Given the description of an element on the screen output the (x, y) to click on. 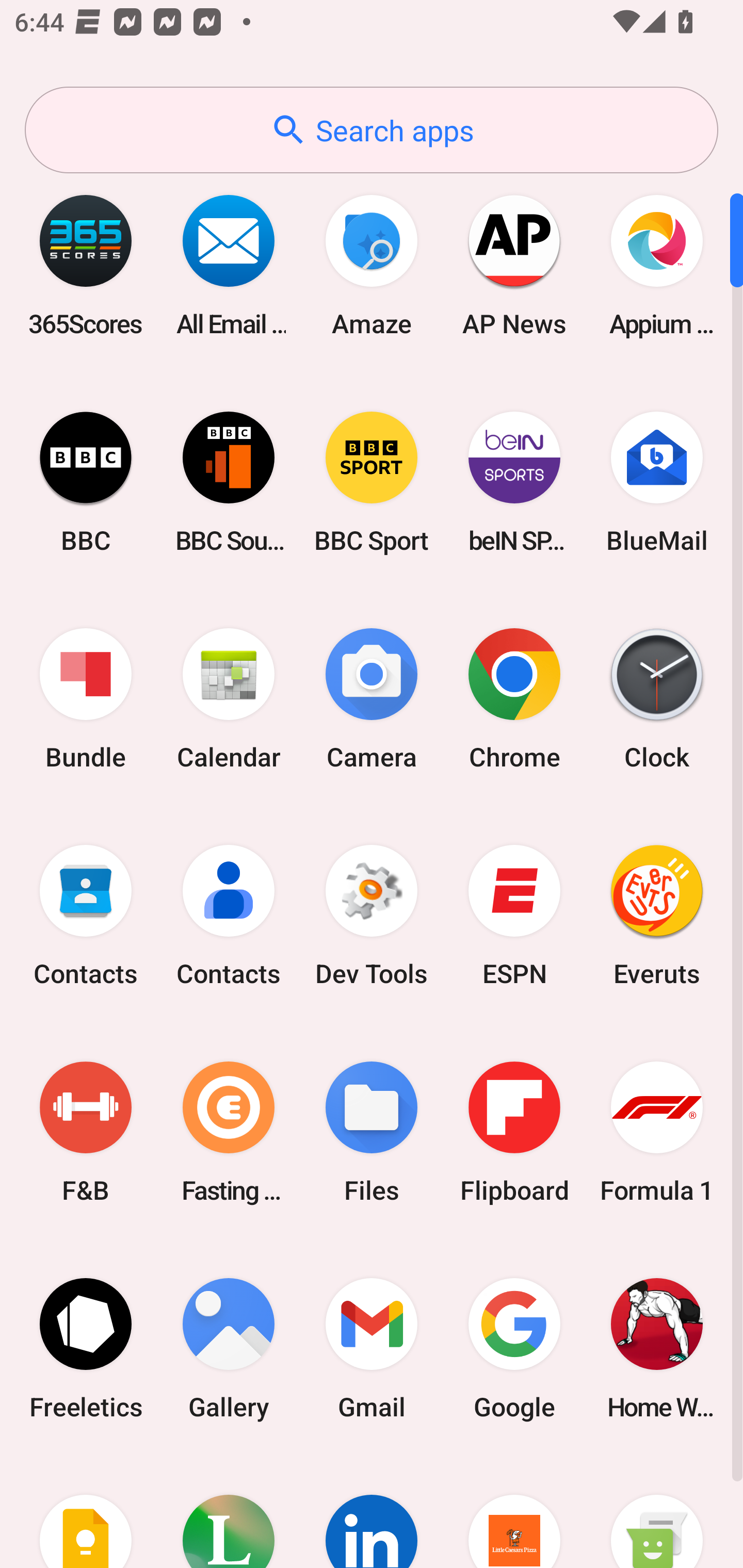
  Search apps (371, 130)
365Scores (85, 264)
All Email Connect (228, 264)
Amaze (371, 264)
AP News (514, 264)
Appium Settings (656, 264)
BBC (85, 482)
BBC Sounds (228, 482)
BBC Sport (371, 482)
beIN SPORTS (514, 482)
BlueMail (656, 482)
Bundle (85, 699)
Calendar (228, 699)
Camera (371, 699)
Chrome (514, 699)
Clock (656, 699)
Contacts (85, 915)
Contacts (228, 915)
Dev Tools (371, 915)
ESPN (514, 915)
Everuts (656, 915)
F&B (85, 1131)
Fasting Coach (228, 1131)
Files (371, 1131)
Flipboard (514, 1131)
Formula 1 (656, 1131)
Freeletics (85, 1348)
Gallery (228, 1348)
Gmail (371, 1348)
Google (514, 1348)
Home Workout (656, 1348)
